Given the description of an element on the screen output the (x, y) to click on. 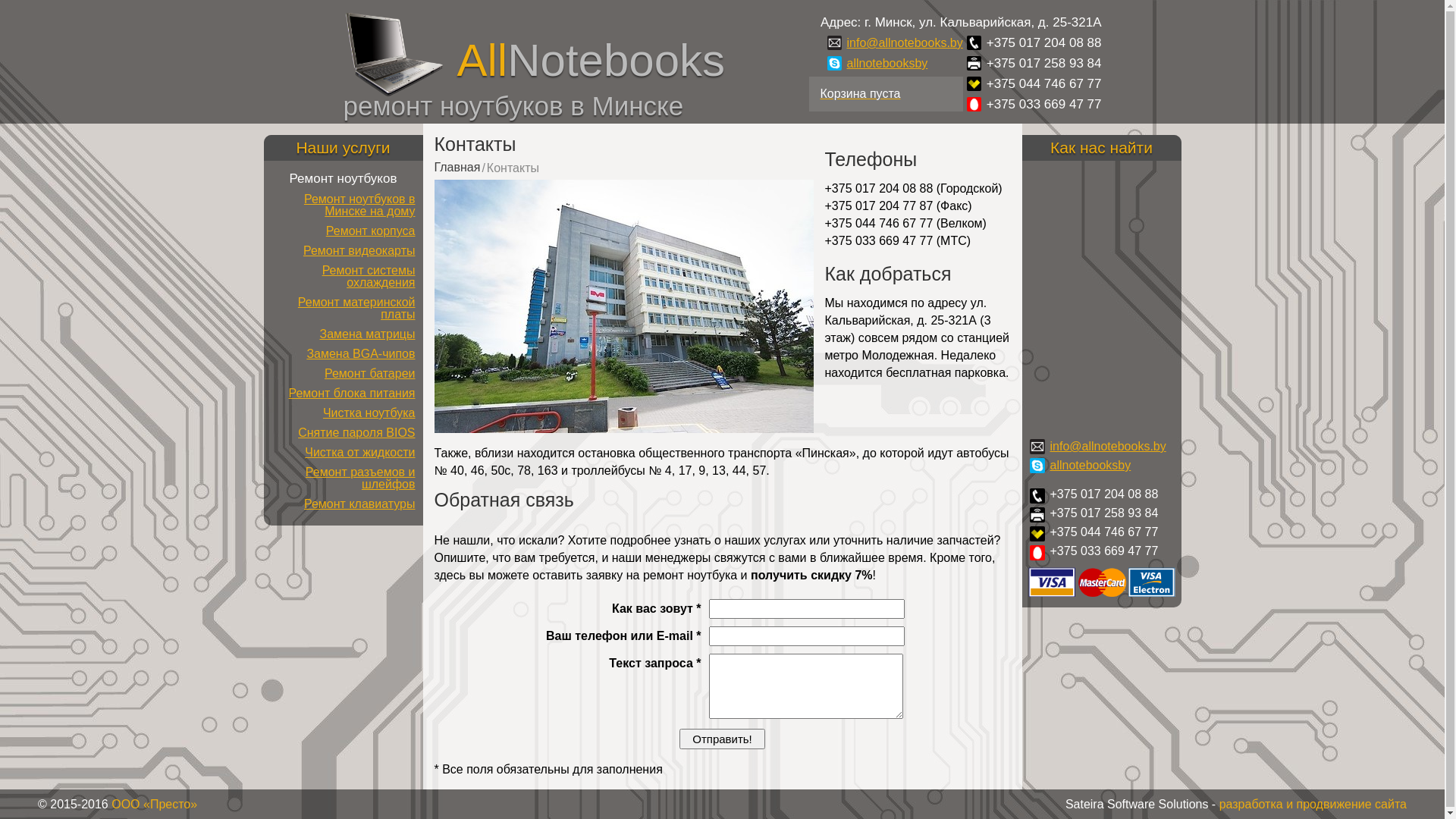
info@allnotebooks.by Element type: text (1107, 446)
allnotebooksby Element type: text (887, 62)
info@allnotebooks.by Element type: text (905, 42)
allnotebooksby Element type: text (1089, 465)
